Given the description of an element on the screen output the (x, y) to click on. 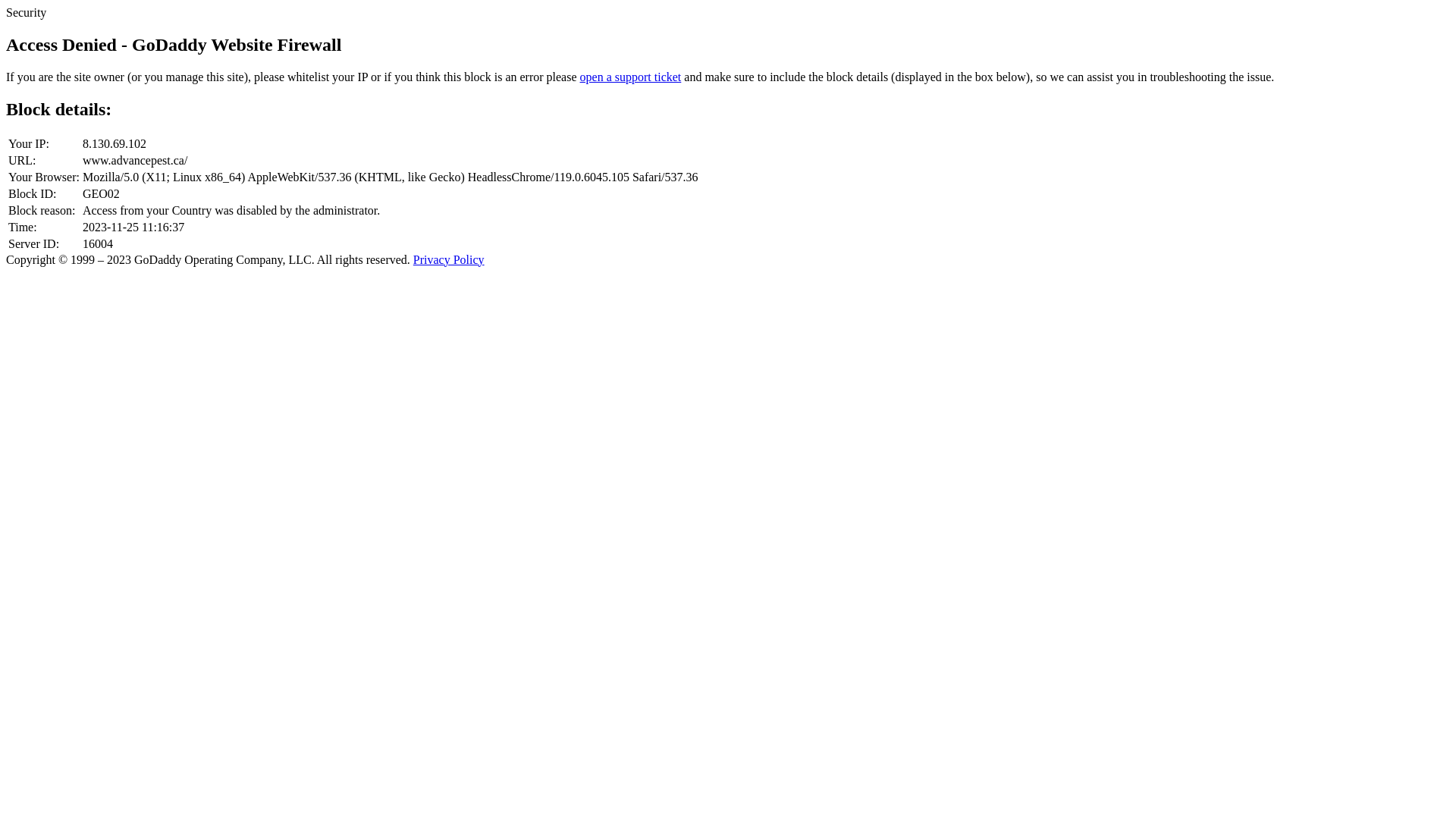
open a support ticket Element type: text (630, 76)
Privacy Policy Element type: text (448, 259)
